Given the description of an element on the screen output the (x, y) to click on. 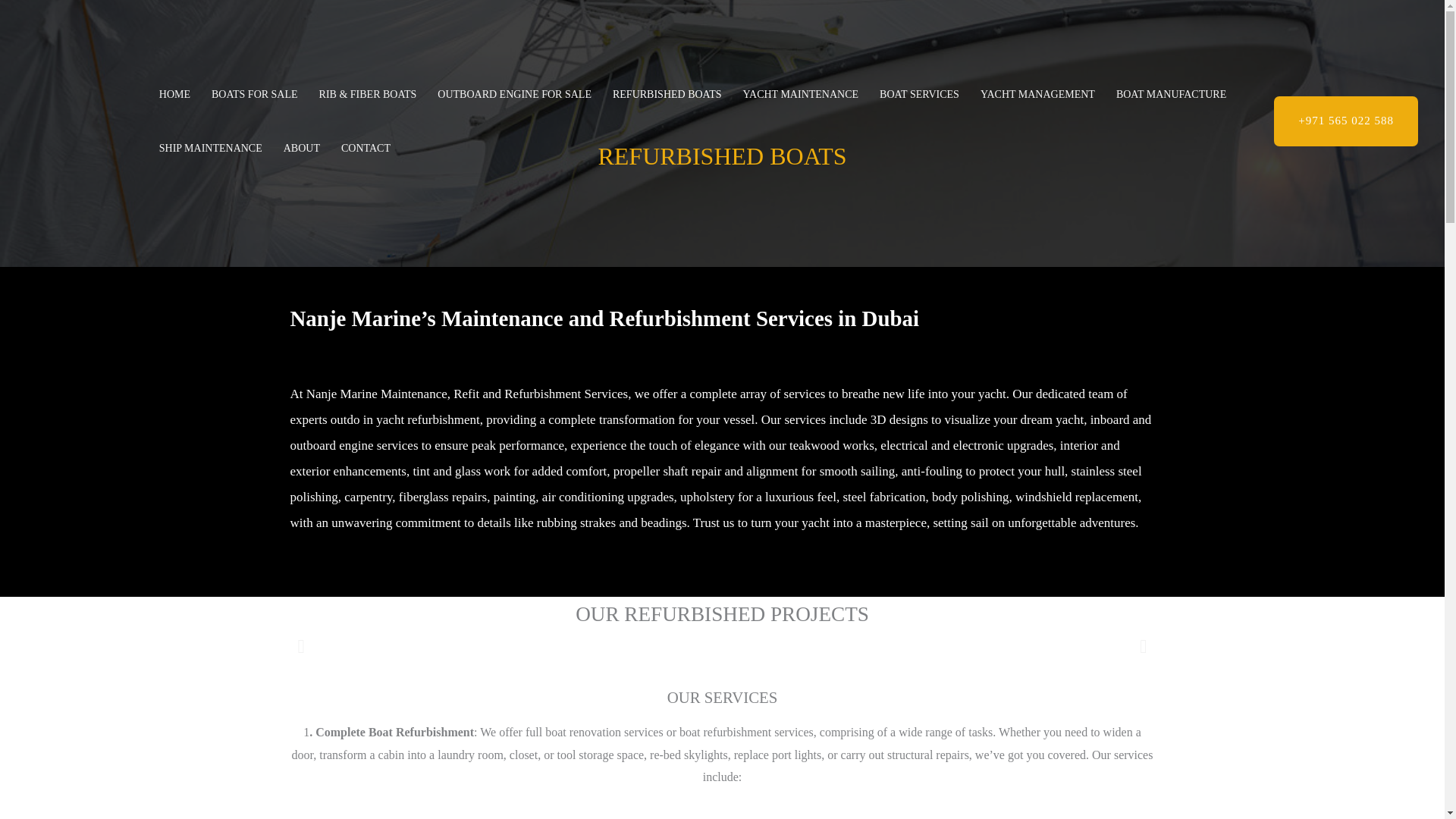
ABOUT (301, 148)
CONTACT (365, 148)
BOAT SERVICES (919, 94)
BOATS FOR SALE (254, 94)
SHIP MAINTENANCE (210, 148)
YACHT MANAGEMENT (1037, 94)
OUTBOARD ENGINE FOR SALE (514, 94)
YACHT MAINTENANCE (800, 94)
REFURBISHED BOATS (667, 94)
BOAT MANUFACTURE (1170, 94)
